Given the description of an element on the screen output the (x, y) to click on. 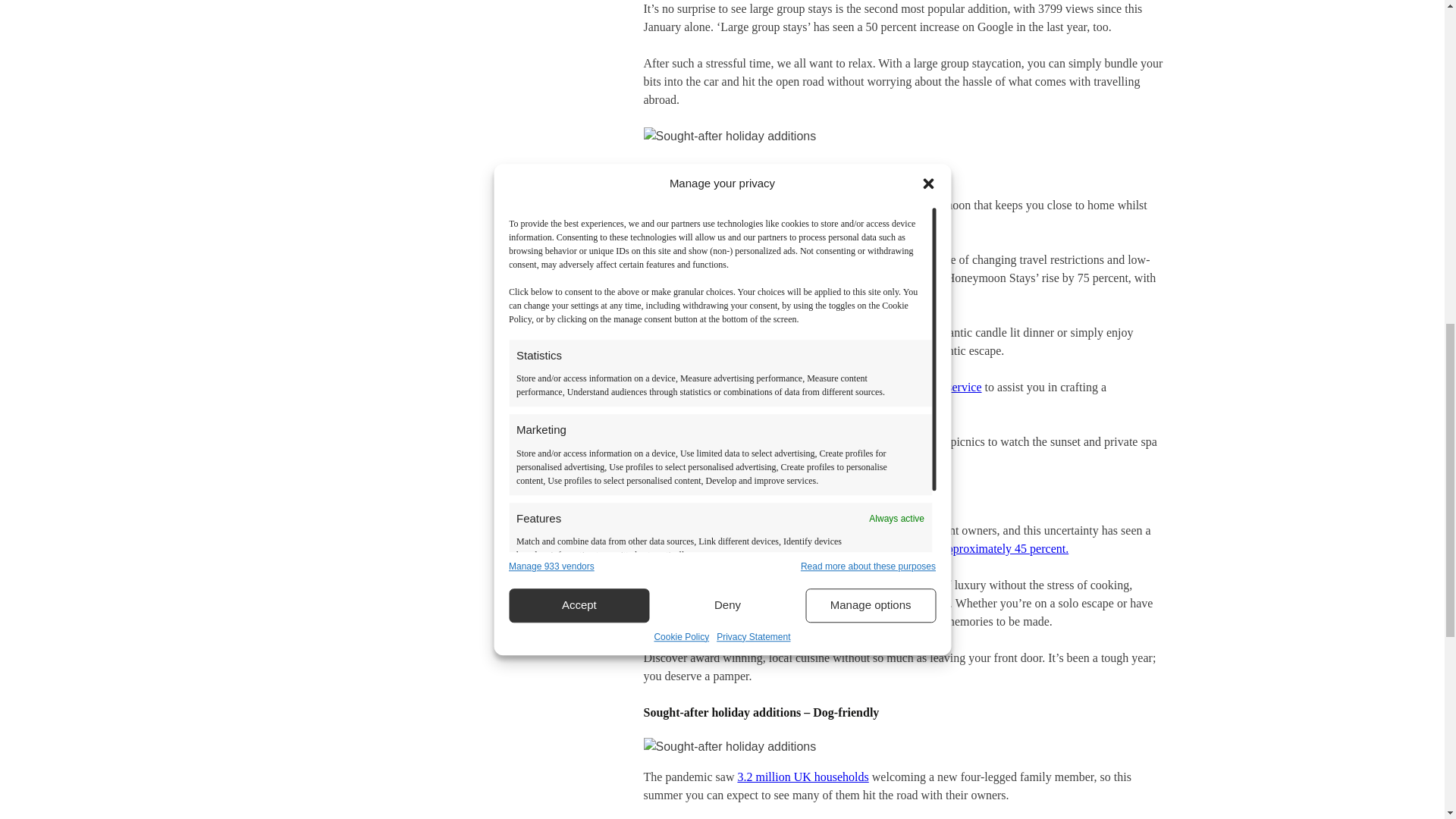
inclusive concierge service (915, 386)
approximately 45 percent. (1005, 548)
3.2 million UK households (801, 776)
